Given the description of an element on the screen output the (x, y) to click on. 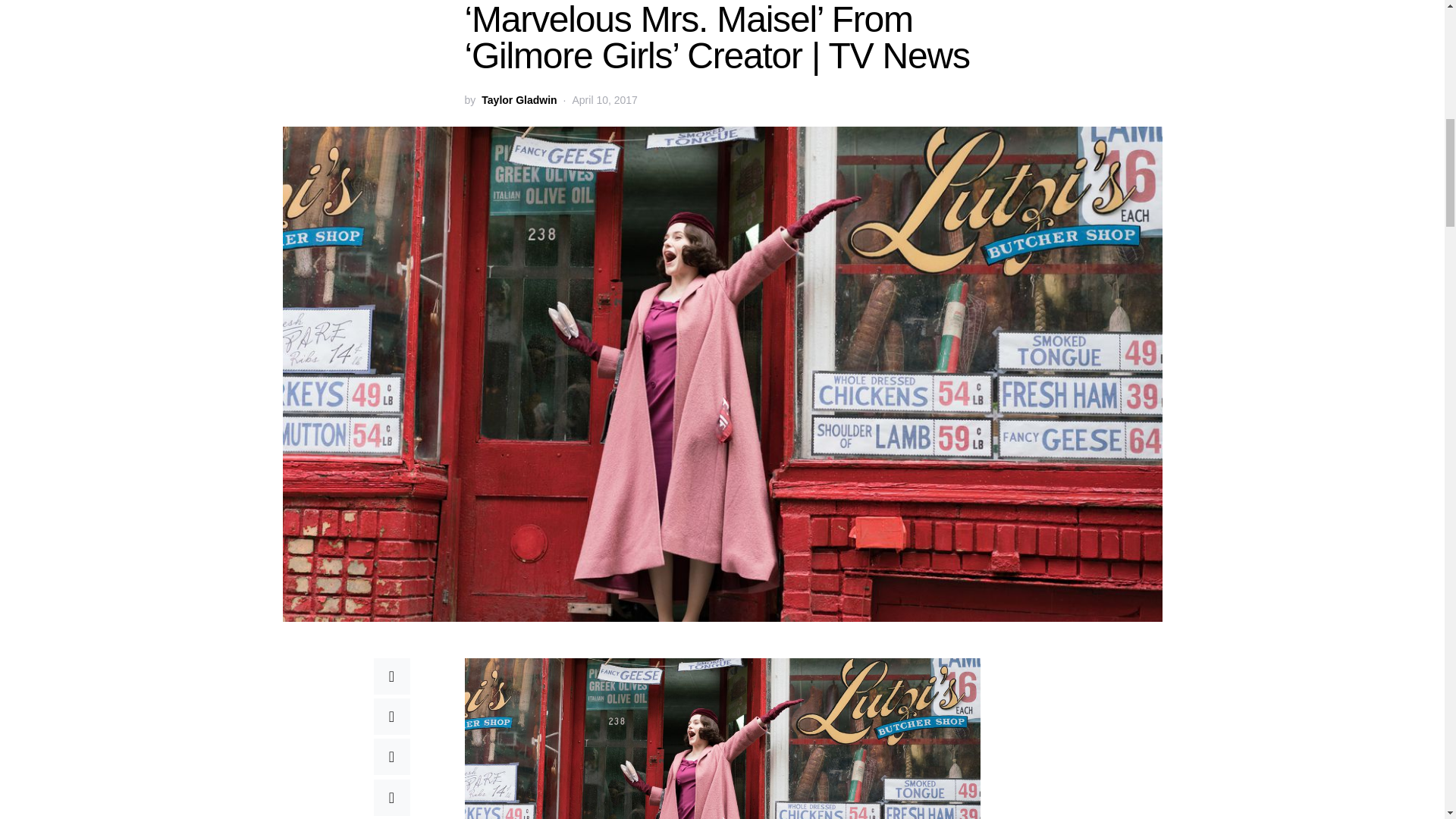
View all posts by Taylor Gladwin (518, 100)
